Given the description of an element on the screen output the (x, y) to click on. 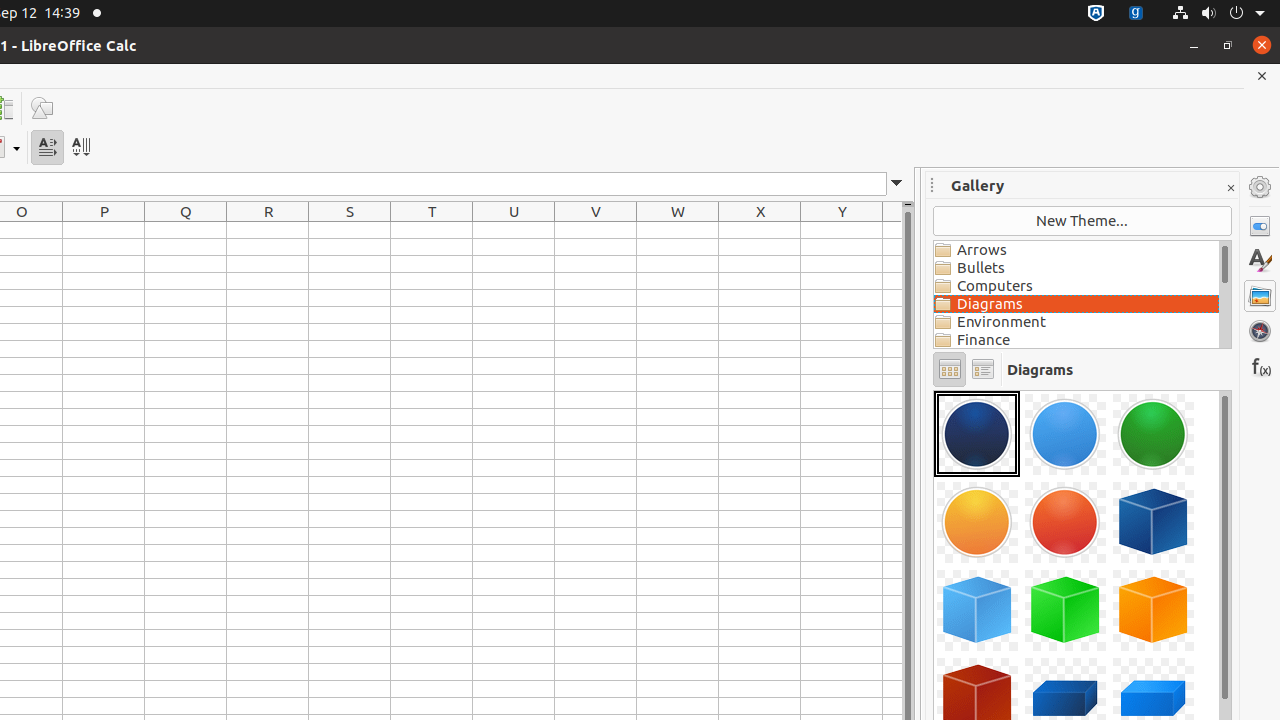
Component-Cube03-Green Element type: list-item (1065, 610)
Icon View Element type: toggle-button (949, 369)
Component-Circle03-Transparent-Green Element type: list-item (1153, 433)
System Element type: menu (1218, 13)
Bullets Element type: list-item (1076, 268)
